Given the description of an element on the screen output the (x, y) to click on. 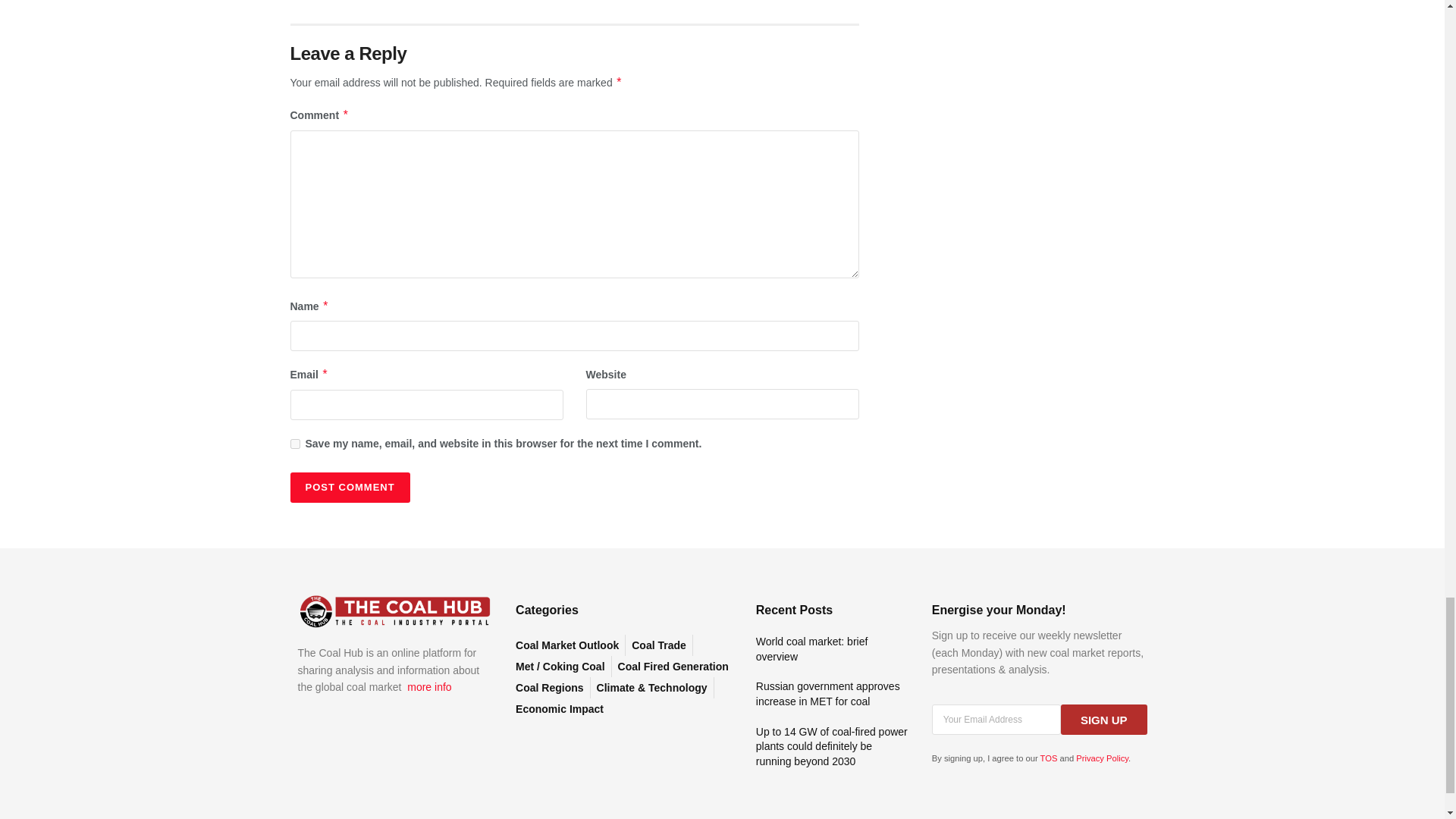
Post Comment (349, 487)
Privacy Policy (1101, 757)
yes (294, 443)
